Given the description of an element on the screen output the (x, y) to click on. 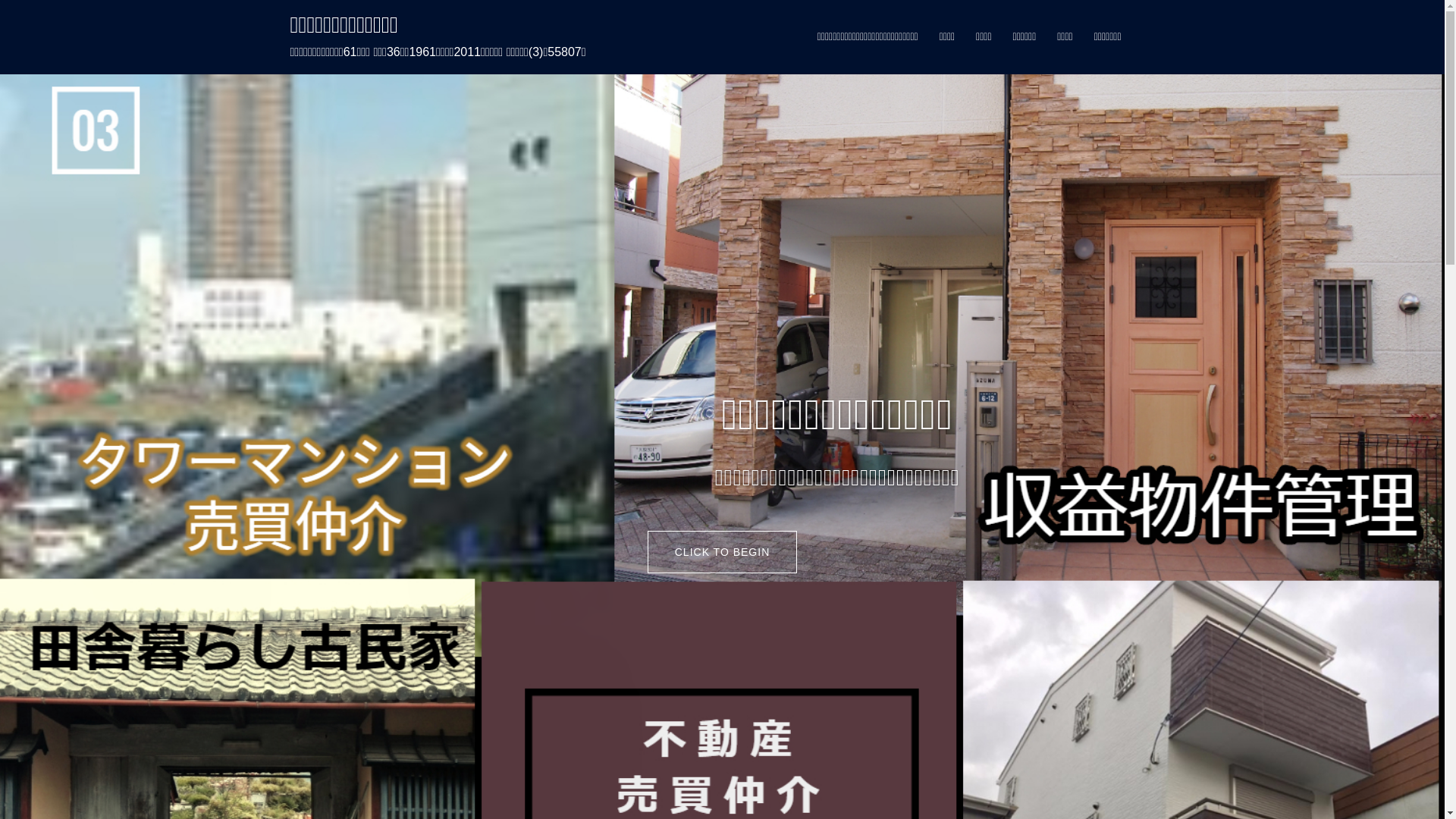
CLICK TO BEGIN Element type: text (722, 551)
